Given the description of an element on the screen output the (x, y) to click on. 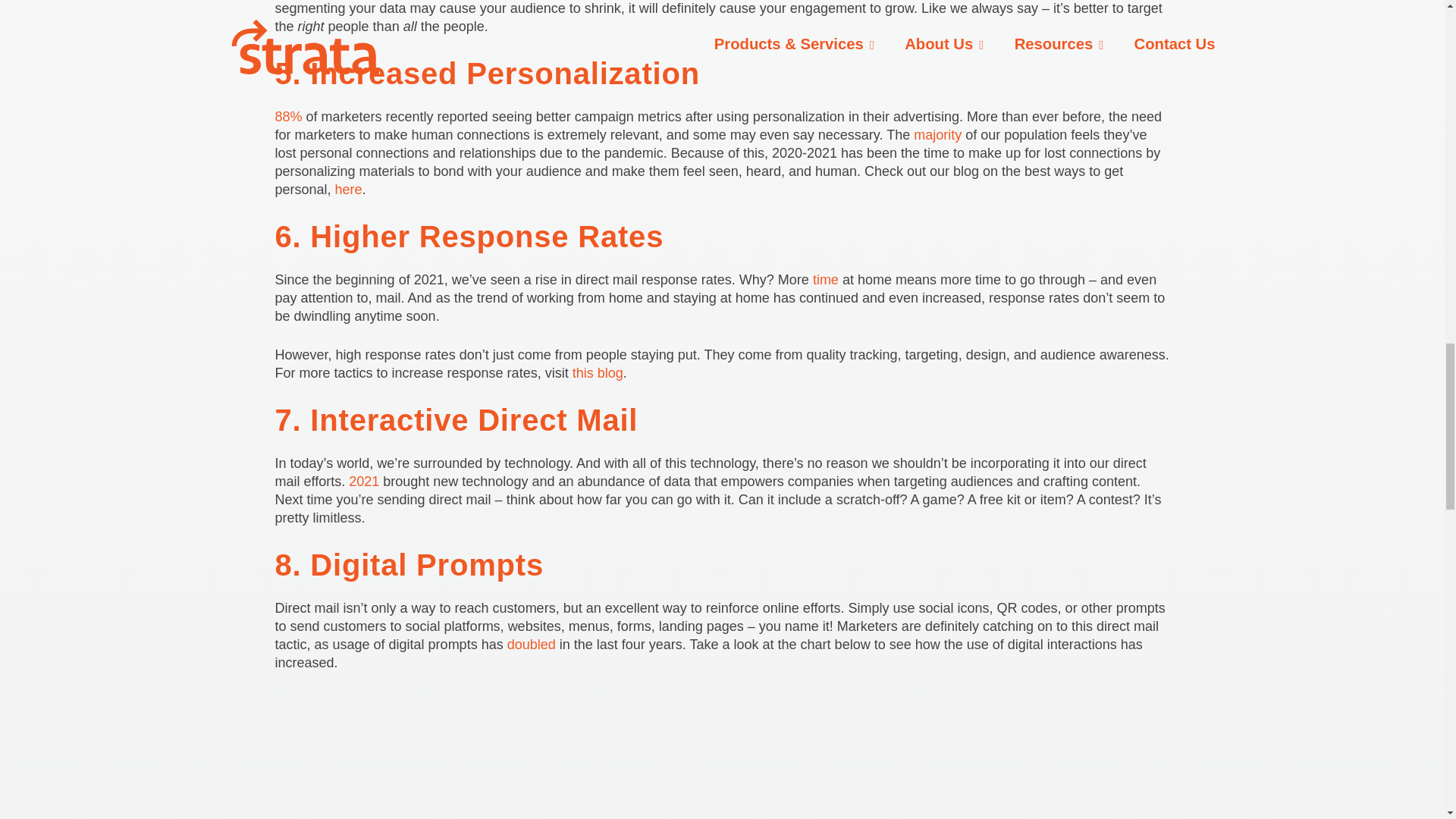
doubled (531, 644)
majority (937, 134)
time (825, 279)
here (348, 189)
this blog (597, 372)
2021 (363, 481)
